Given the description of an element on the screen output the (x, y) to click on. 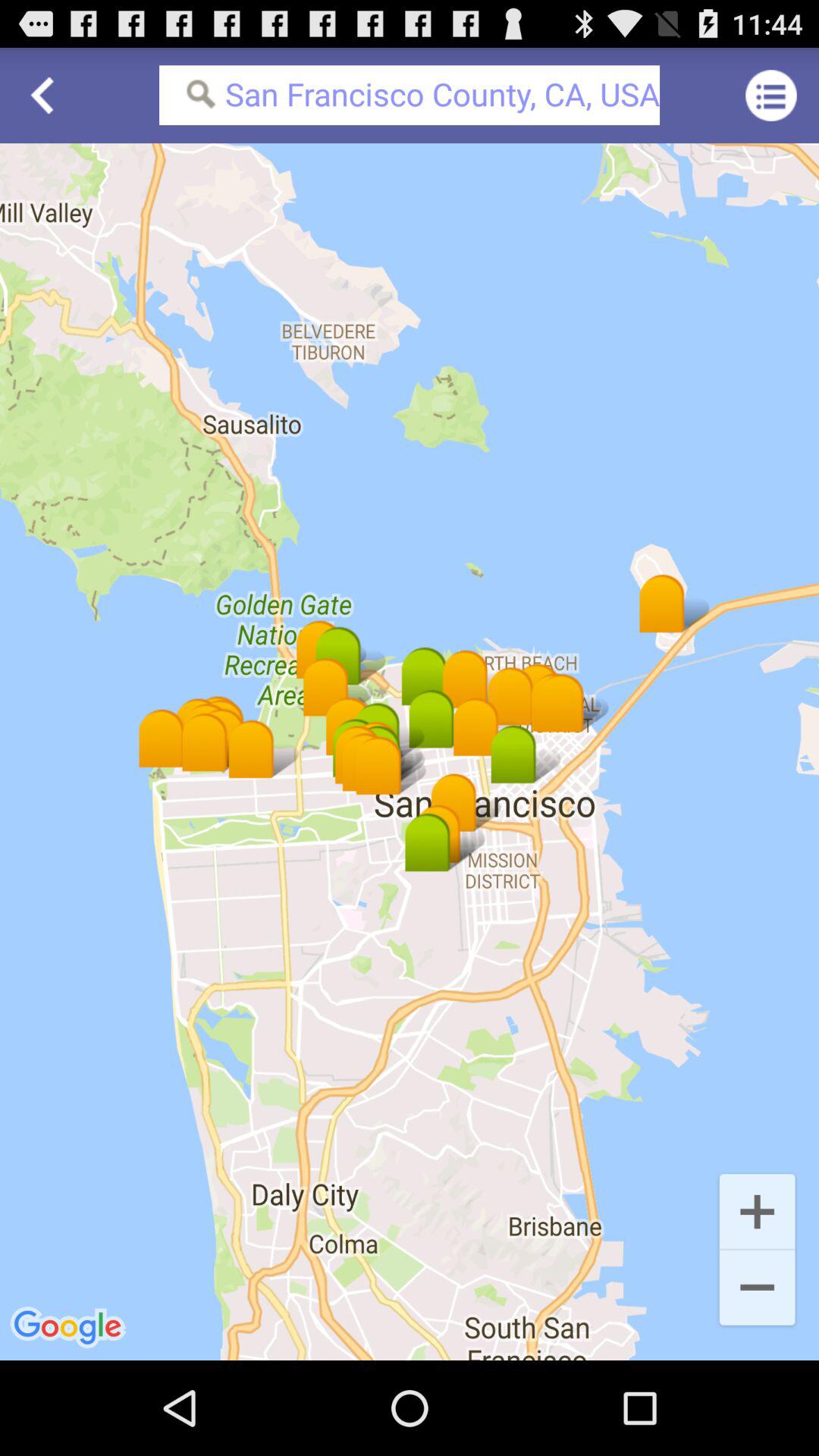
turn on icon at the top right corner (771, 95)
